Given the description of an element on the screen output the (x, y) to click on. 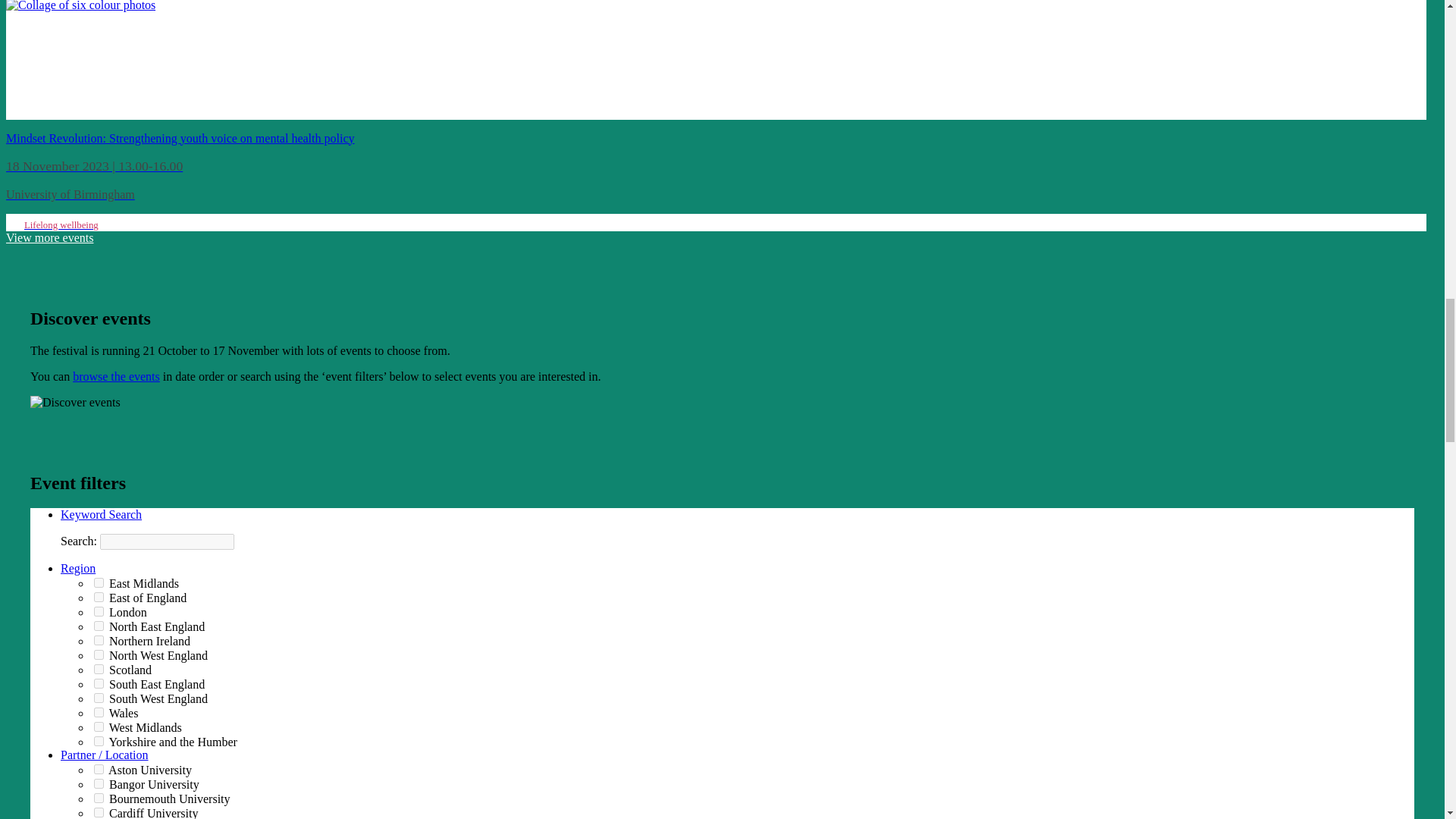
47 (98, 655)
43 (98, 611)
41 (98, 697)
Region (78, 567)
37 (98, 583)
40 (98, 640)
browse the events (116, 376)
39 (98, 669)
Aston University (98, 768)
42 (98, 683)
45 (98, 741)
View more events (49, 237)
Cardiff University (98, 812)
46 (98, 625)
36 (98, 726)
